Given the description of an element on the screen output the (x, y) to click on. 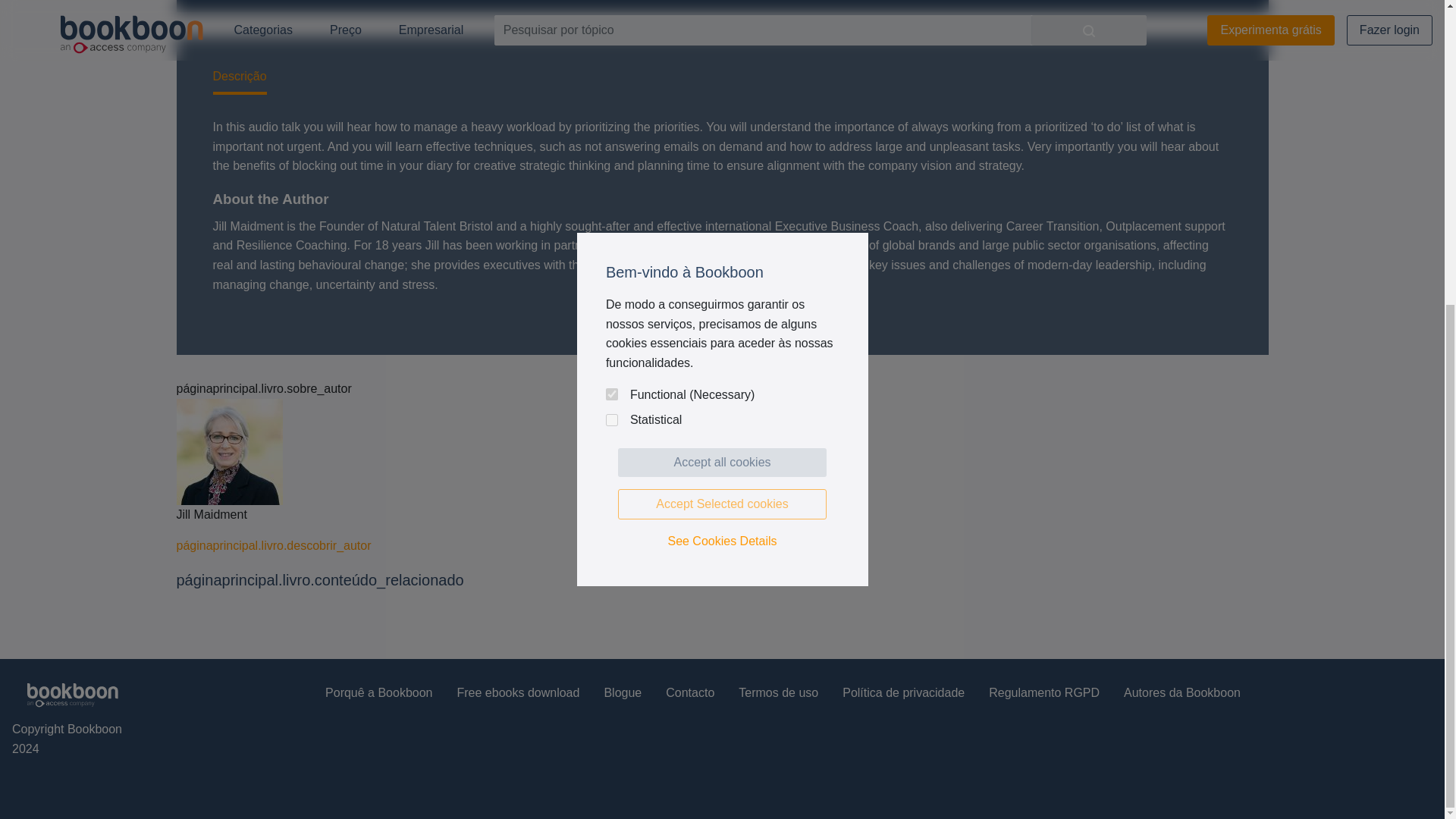
Accept Selected cookies (722, 25)
See Cookies Details (722, 62)
